Given the description of an element on the screen output the (x, y) to click on. 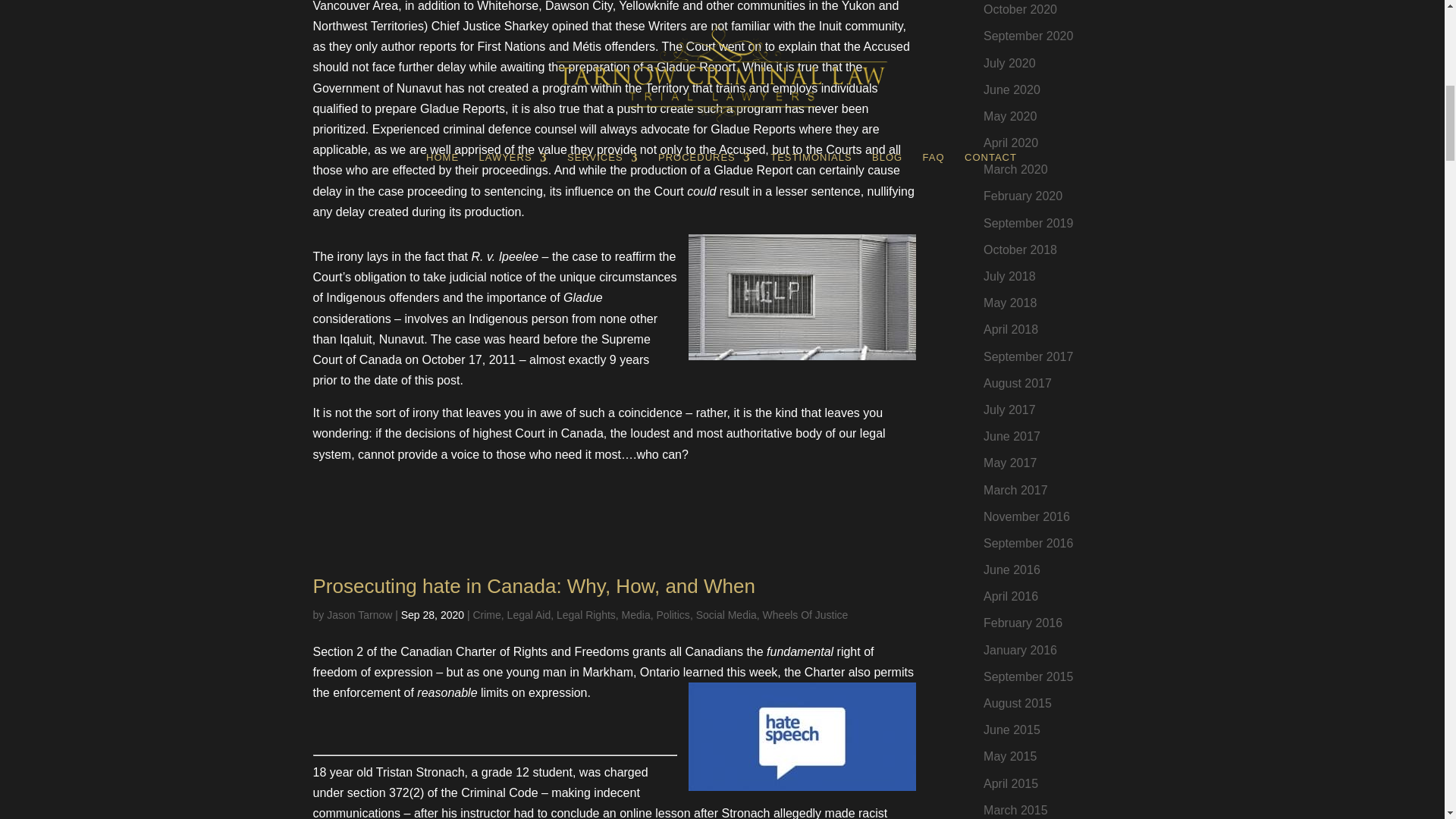
Posts by Jason Tarnow (358, 614)
